Given the description of an element on the screen output the (x, y) to click on. 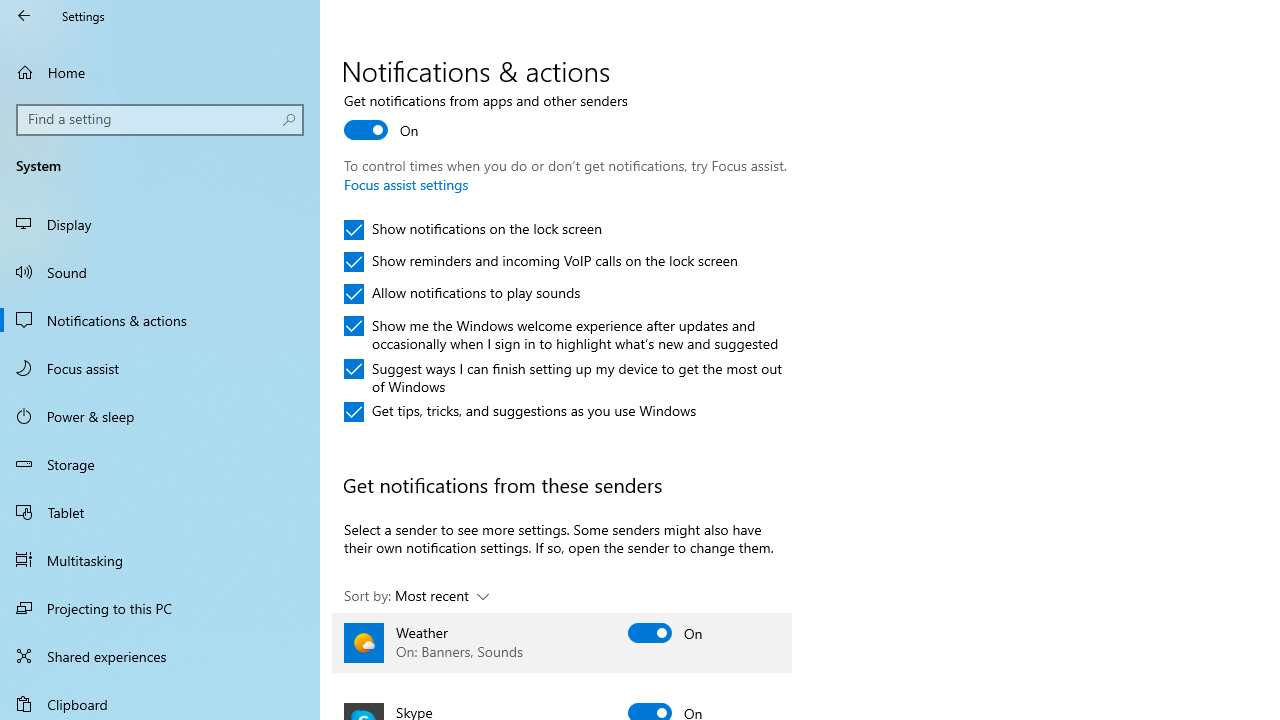
Back (24, 15)
Home (160, 71)
Weather (561, 642)
Get tips, tricks, and suggestions as you use Windows (520, 411)
Projecting to this PC (160, 607)
Sound (160, 271)
Get notifications from apps and other senders (486, 118)
Shared experiences (160, 655)
Power & sleep (160, 415)
